Given the description of an element on the screen output the (x, y) to click on. 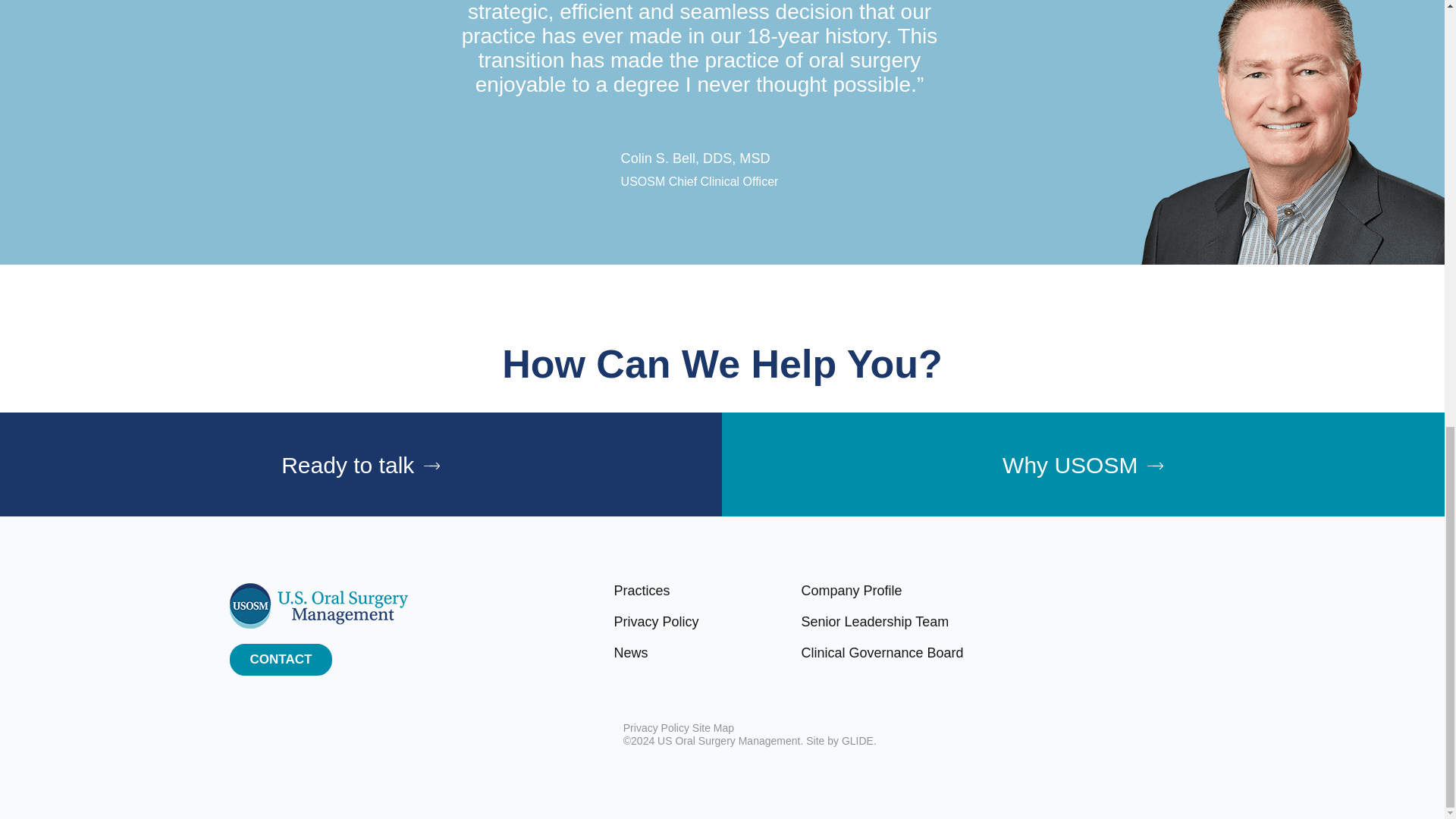
Ready to talk (361, 464)
USOSM (317, 605)
